Given the description of an element on the screen output the (x, y) to click on. 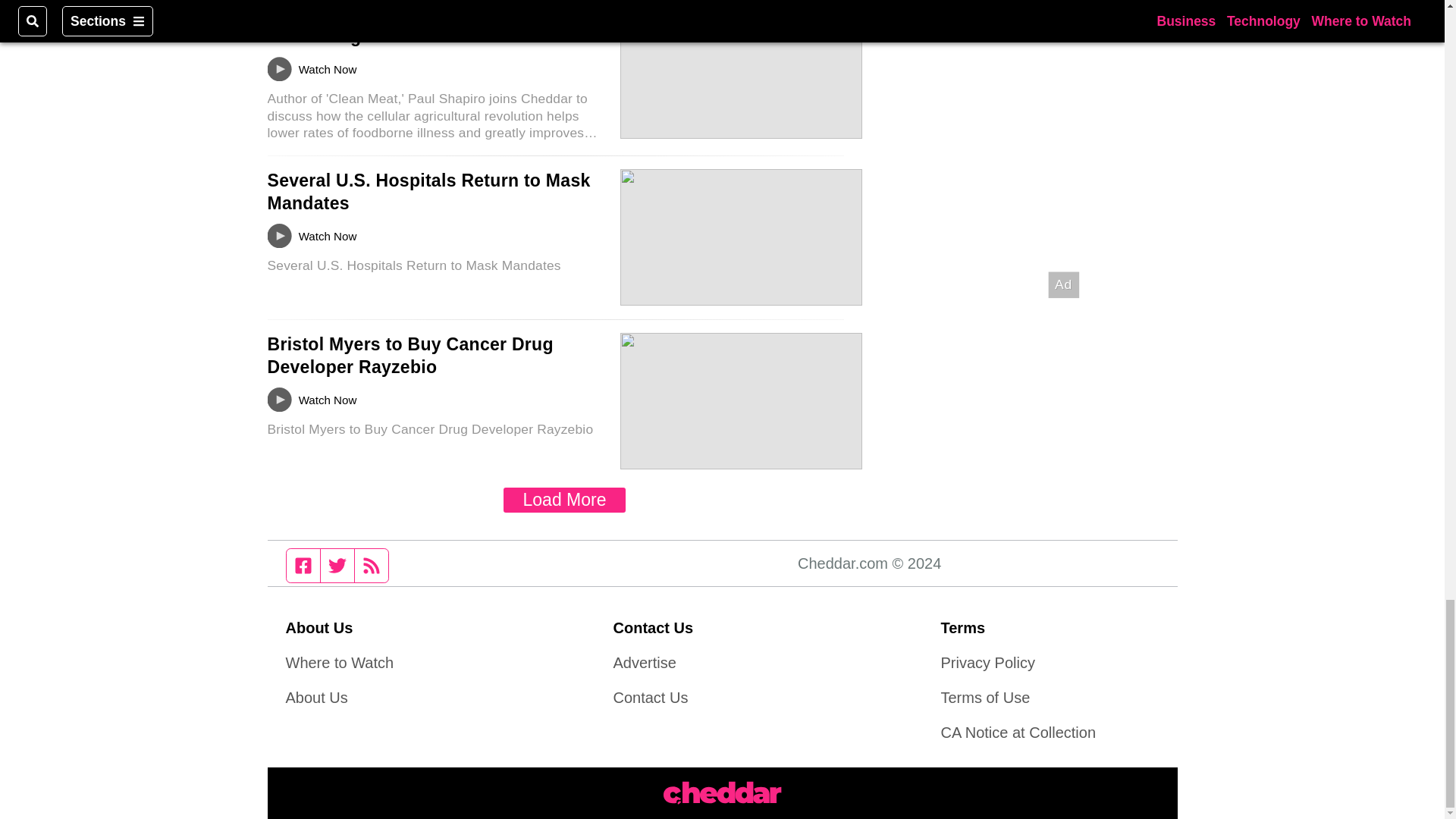
Twitter feed (336, 565)
RSS feed (371, 565)
Load More (564, 499)
Bristol Myers to Buy Cancer Drug Developer Rayzebio (409, 355)
Several U.S. Hospitals Return to Mask Mandates (427, 191)
Facebook page (303, 565)
